Given the description of an element on the screen output the (x, y) to click on. 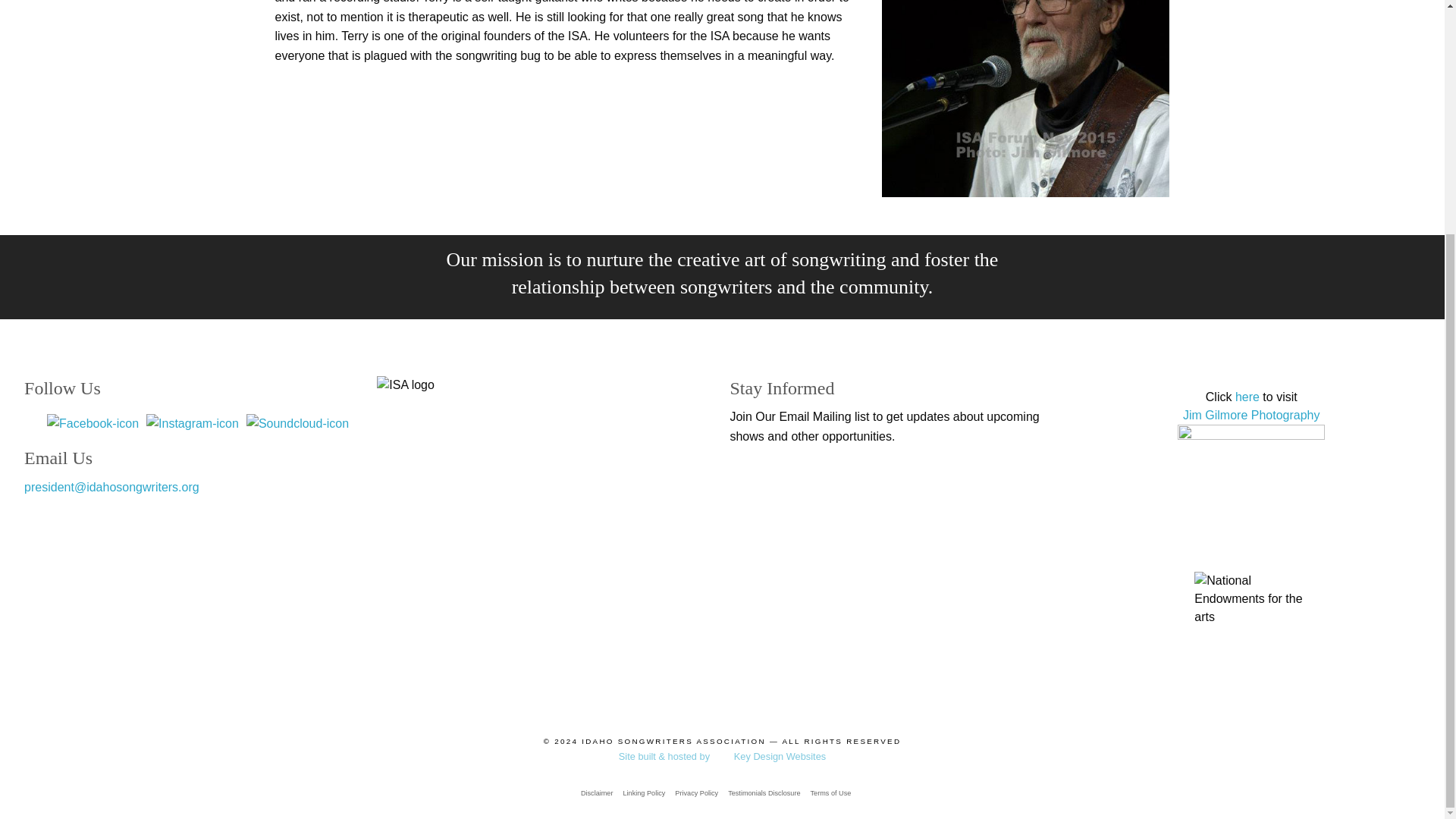
Jim Gilmore Photography (1251, 414)
here (1246, 396)
IDAHO SONGWRITERS ASSOCIATION (672, 741)
Disclaimer (596, 793)
Facebook (92, 422)
Site by Key Design Websites (721, 756)
Linking Policy (643, 793)
Soundcloud (297, 422)
Instagram (192, 422)
